Given the description of an element on the screen output the (x, y) to click on. 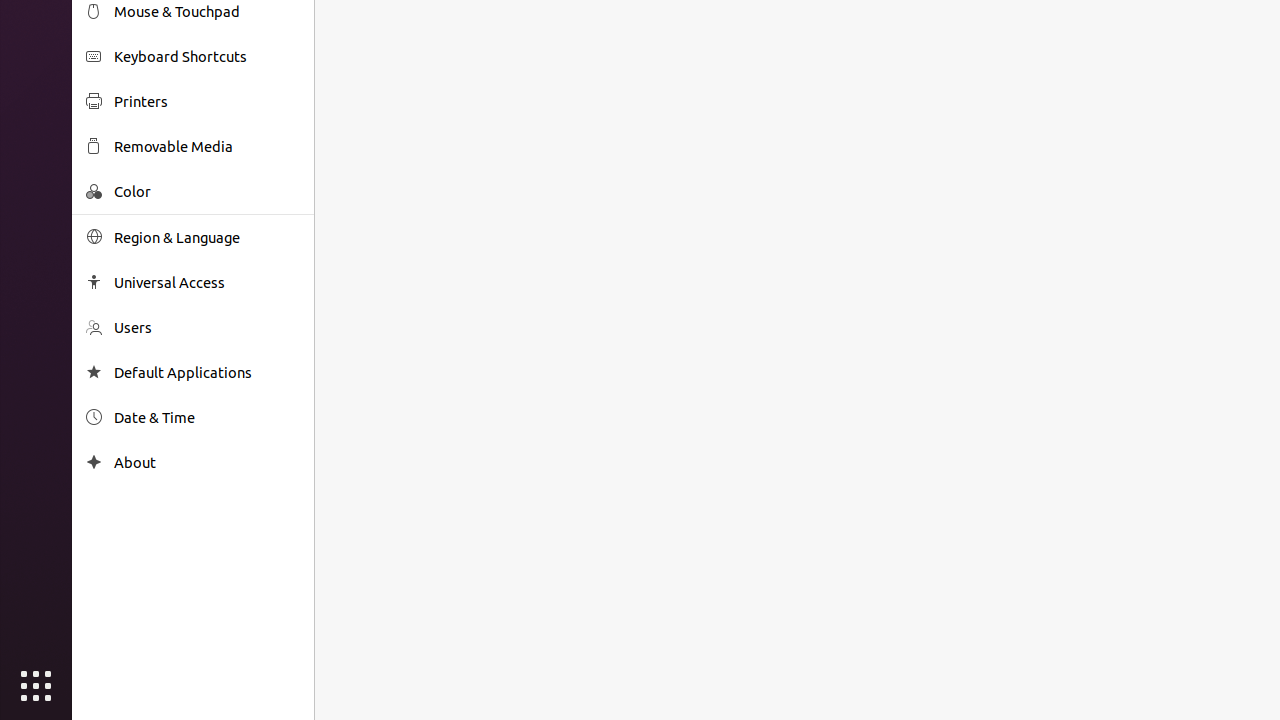
Printers Element type: label (207, 101)
Color Element type: label (207, 191)
Removable Media Element type: label (207, 146)
